Given the description of an element on the screen output the (x, y) to click on. 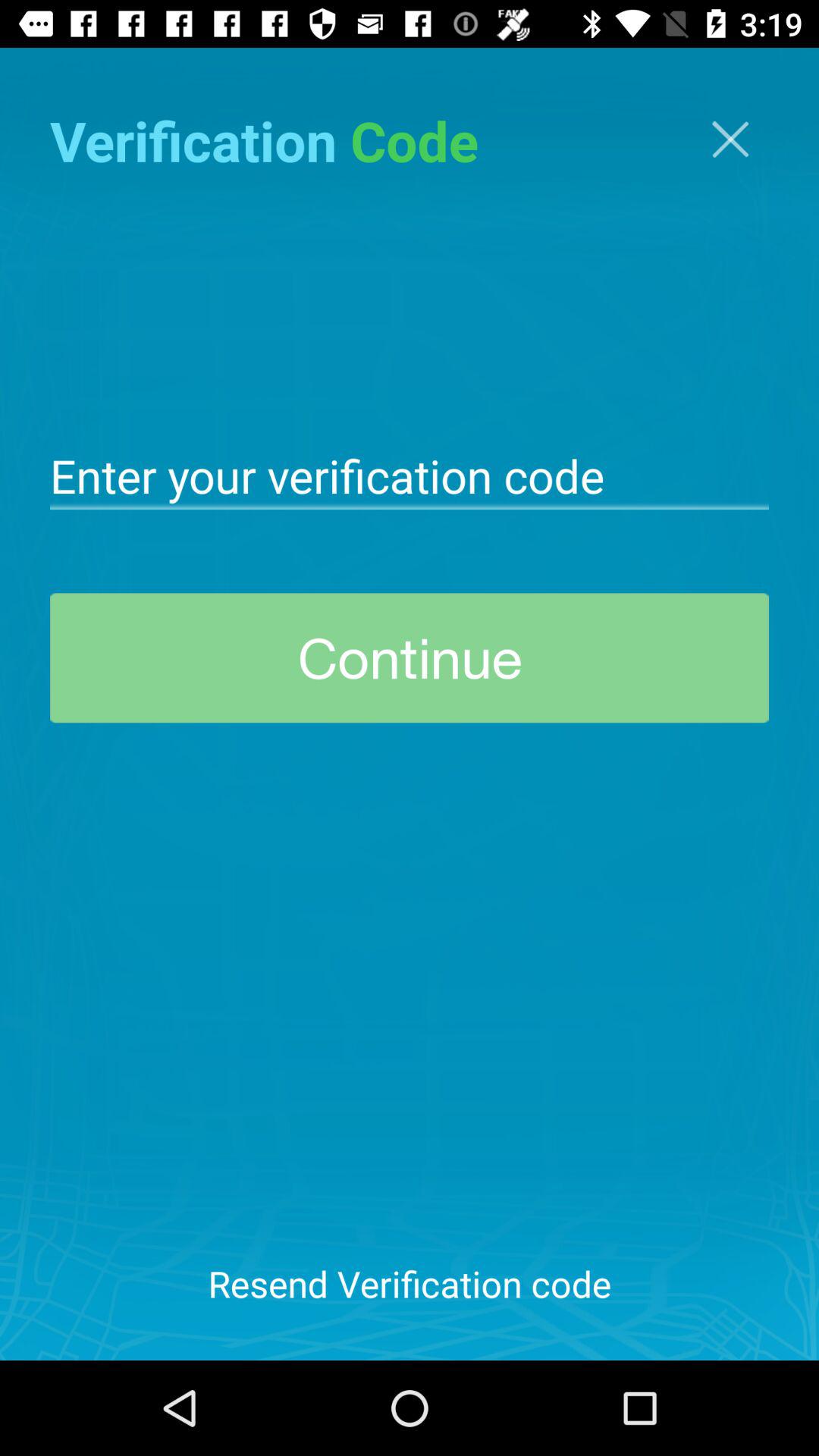
open item at the top right corner (730, 139)
